Given the description of an element on the screen output the (x, y) to click on. 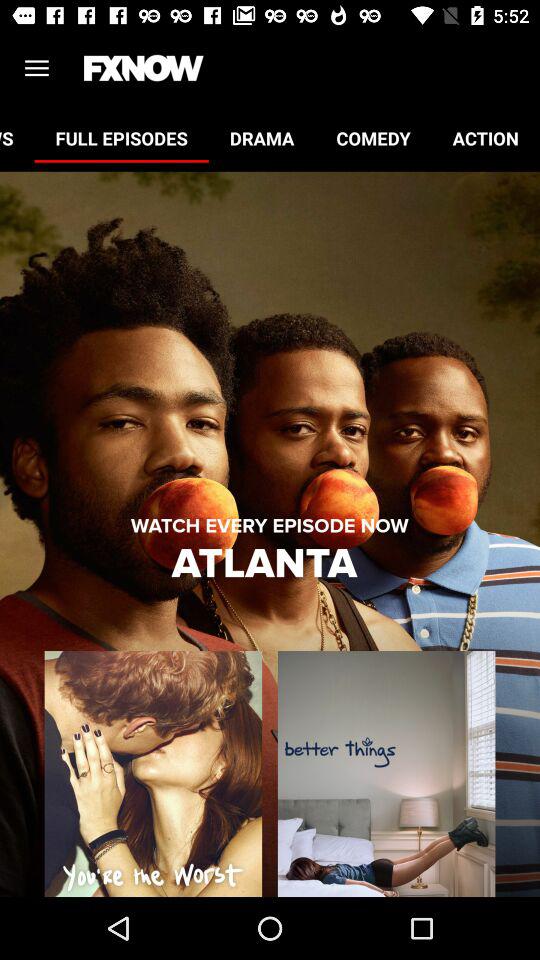
turn off atlanta (269, 563)
